Given the description of an element on the screen output the (x, y) to click on. 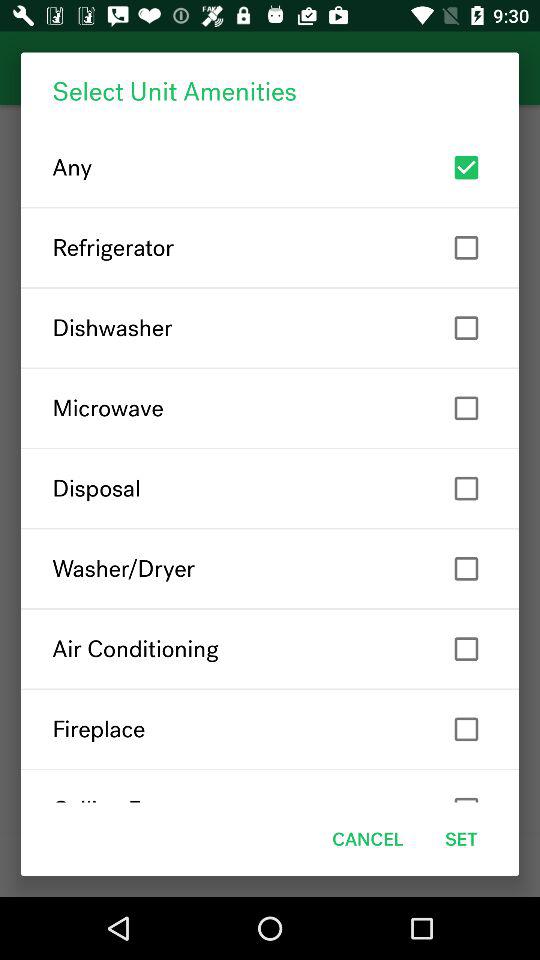
tap item above microwave item (270, 327)
